Given the description of an element on the screen output the (x, y) to click on. 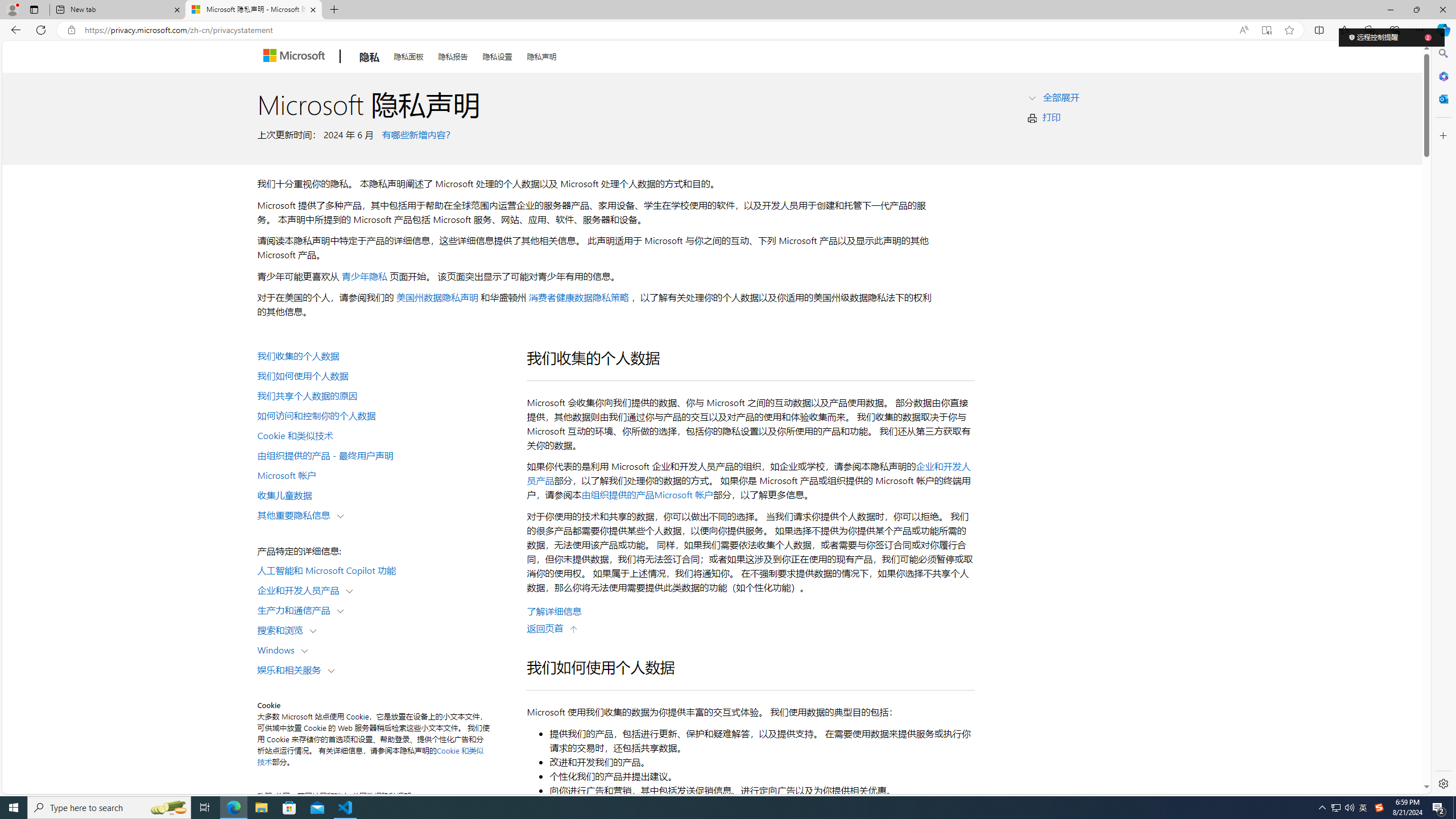
Microsoft (295, 56)
